Given the description of an element on the screen output the (x, y) to click on. 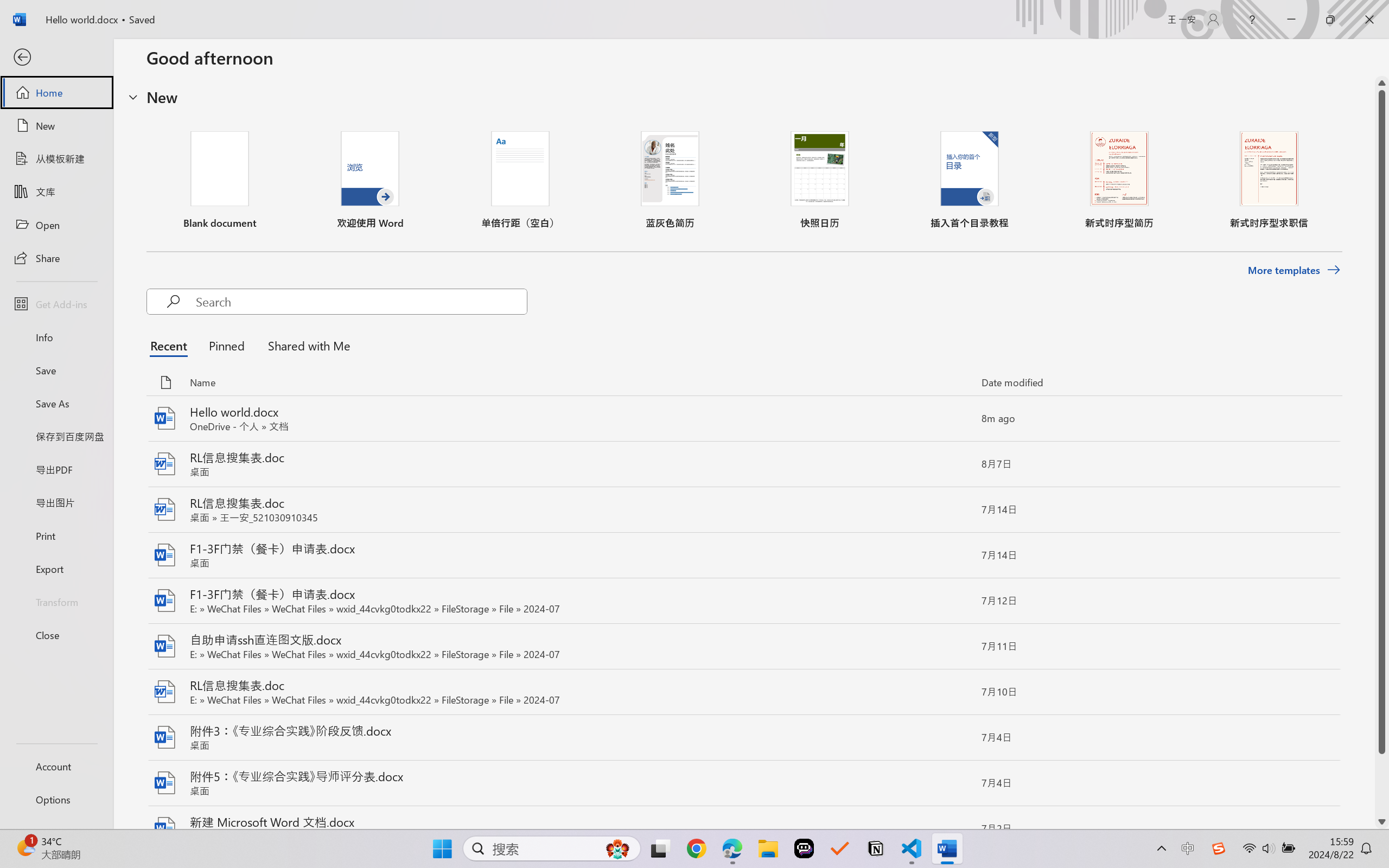
Recent (171, 345)
Blank document (219, 180)
New (56, 125)
Options (56, 798)
Print (56, 535)
Home (56, 92)
Info (56, 337)
